Given the description of an element on the screen output the (x, y) to click on. 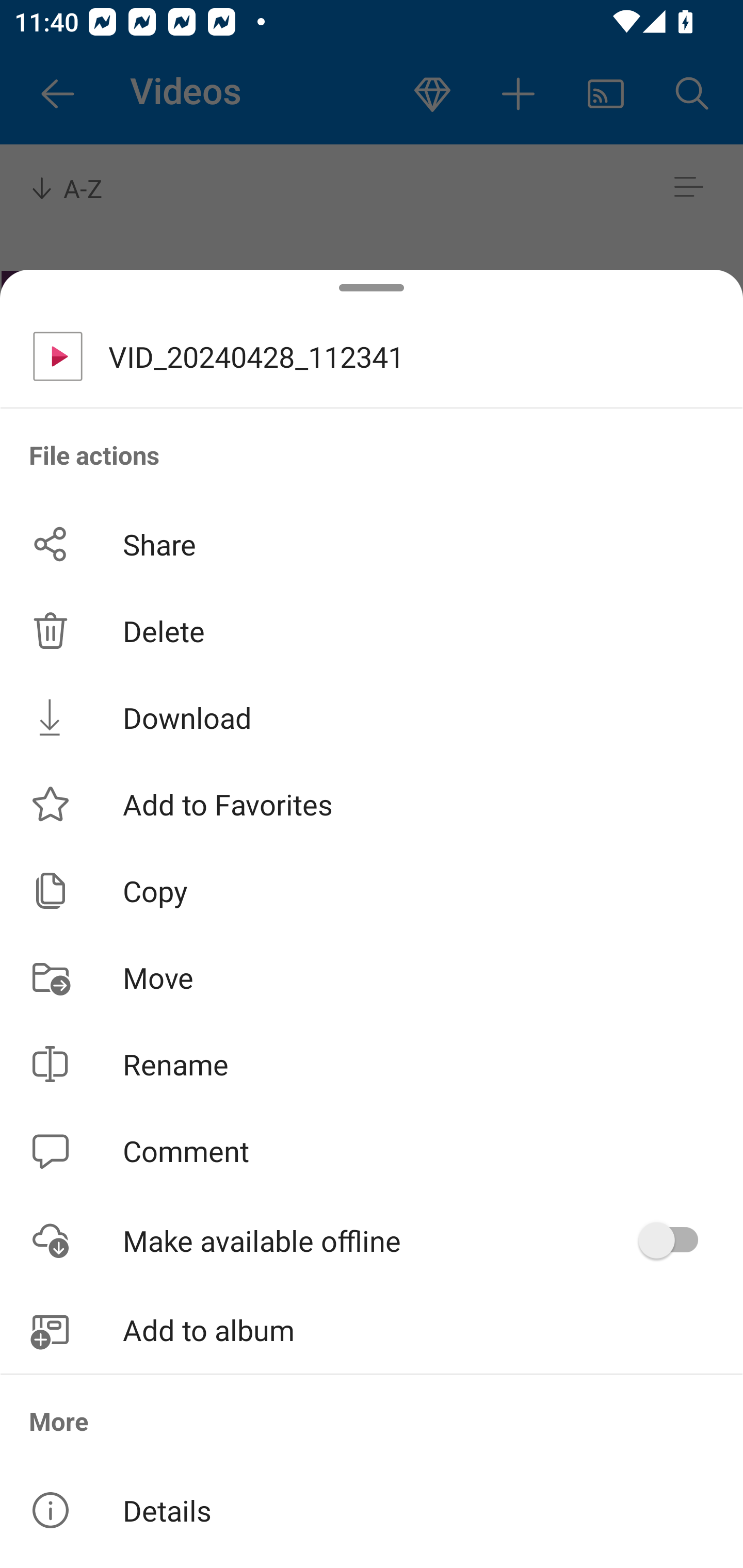
Share button Share (371, 544)
Delete button Delete (371, 631)
Download button Download (371, 717)
Add to Favorites button Add to Favorites (371, 803)
Copy button Copy (371, 890)
Move button Move (371, 977)
Rename button Rename (371, 1063)
Comment button Comment (371, 1150)
Make offline operation (674, 1240)
Add to album button Add to album (371, 1329)
Details button Details (371, 1510)
